Given the description of an element on the screen output the (x, y) to click on. 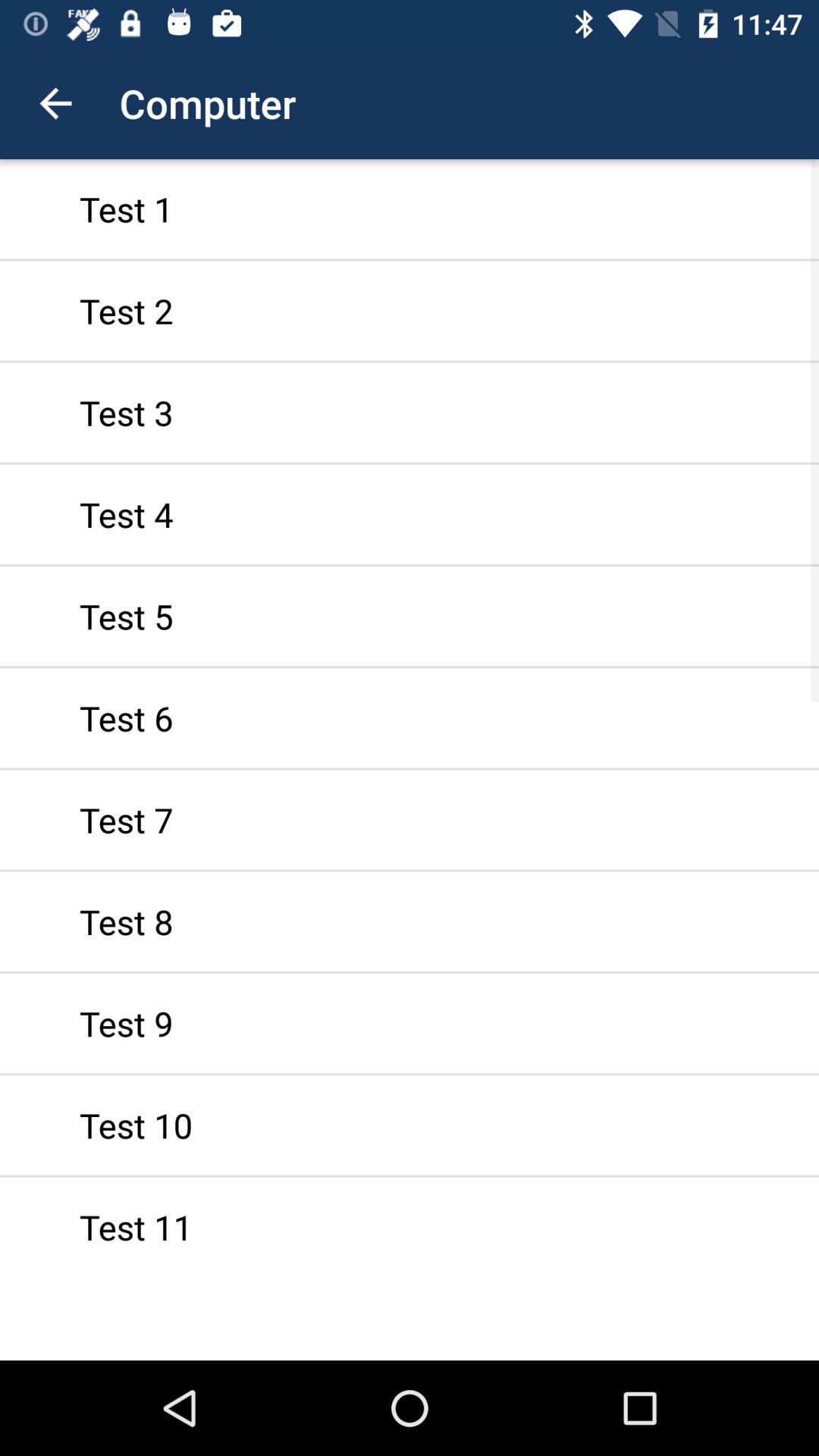
tap test 2 icon (409, 310)
